Given the description of an element on the screen output the (x, y) to click on. 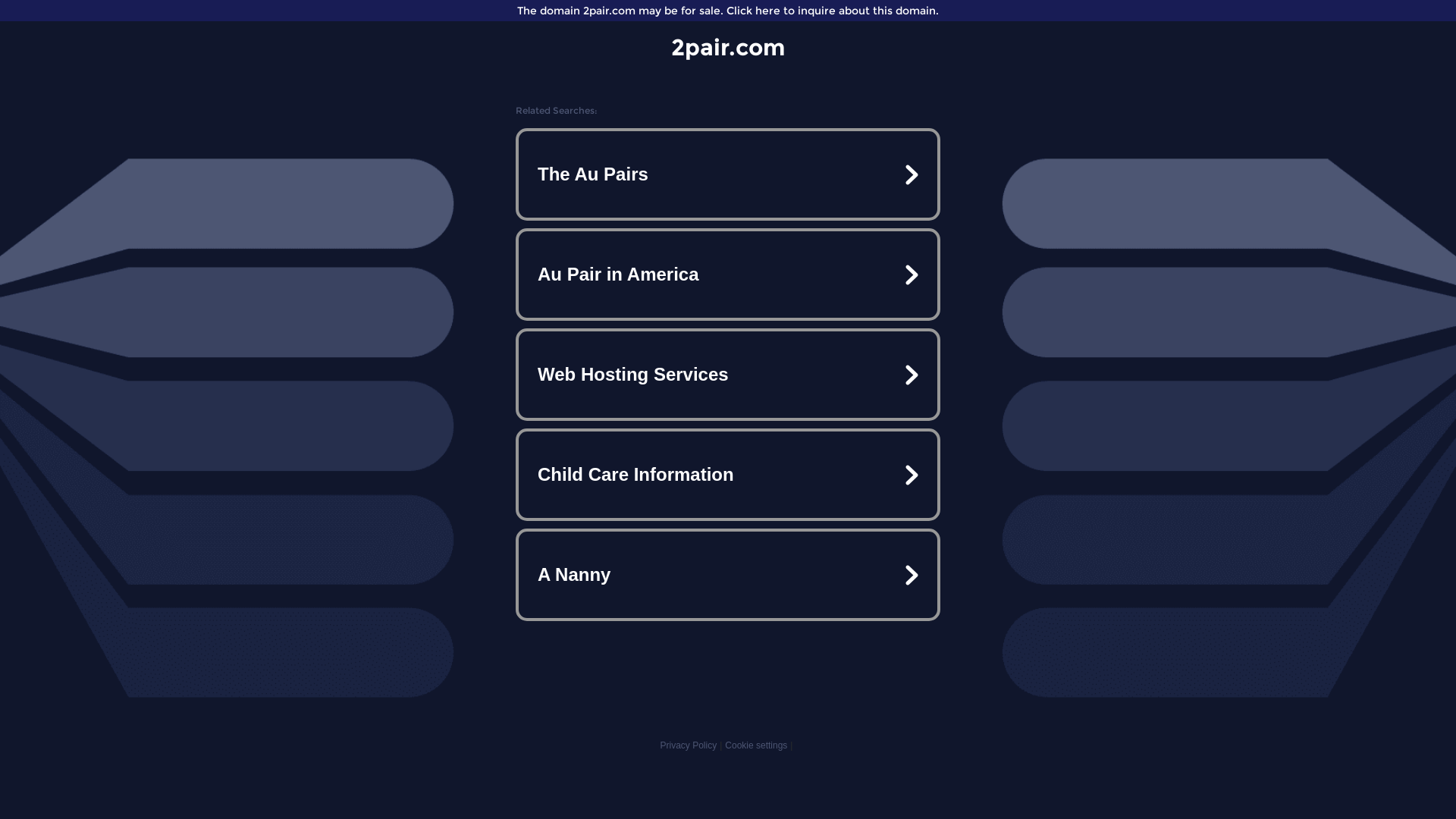
The Au Pairs Element type: text (727, 174)
A Nanny Element type: text (727, 574)
Web Hosting Services Element type: text (727, 374)
Au Pair in America Element type: text (727, 274)
Cookie settings Element type: text (755, 745)
Privacy Policy Element type: text (687, 745)
Child Care Information Element type: text (727, 474)
2pair.com Element type: text (727, 47)
